Given the description of an element on the screen output the (x, y) to click on. 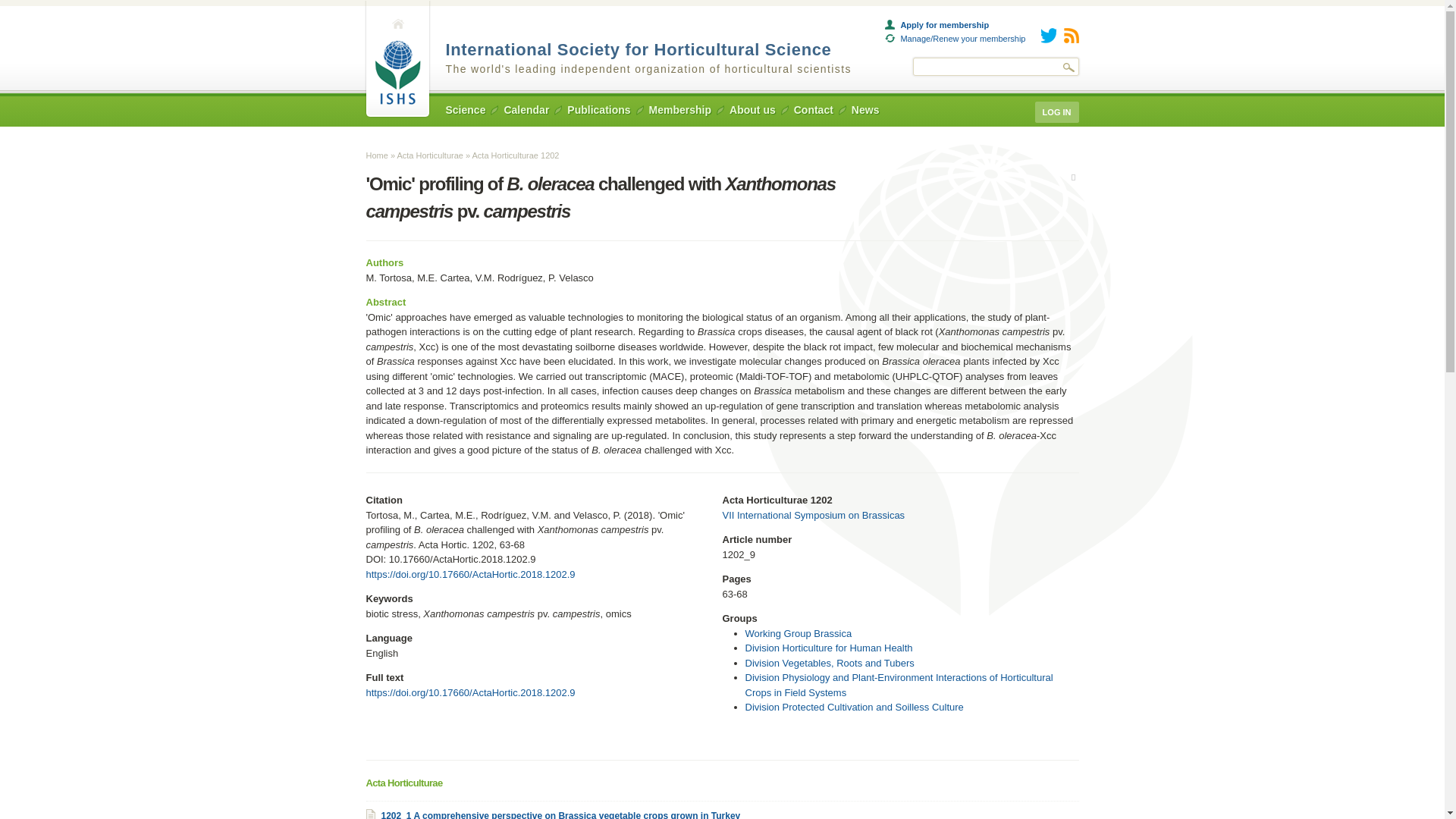
Home (638, 49)
Publications (598, 109)
Science (465, 109)
International Society for Horticultural Science (638, 49)
Calendar (525, 109)
About us (752, 109)
Search (1069, 67)
Membership (680, 109)
Search (1069, 67)
